Given the description of an element on the screen output the (x, y) to click on. 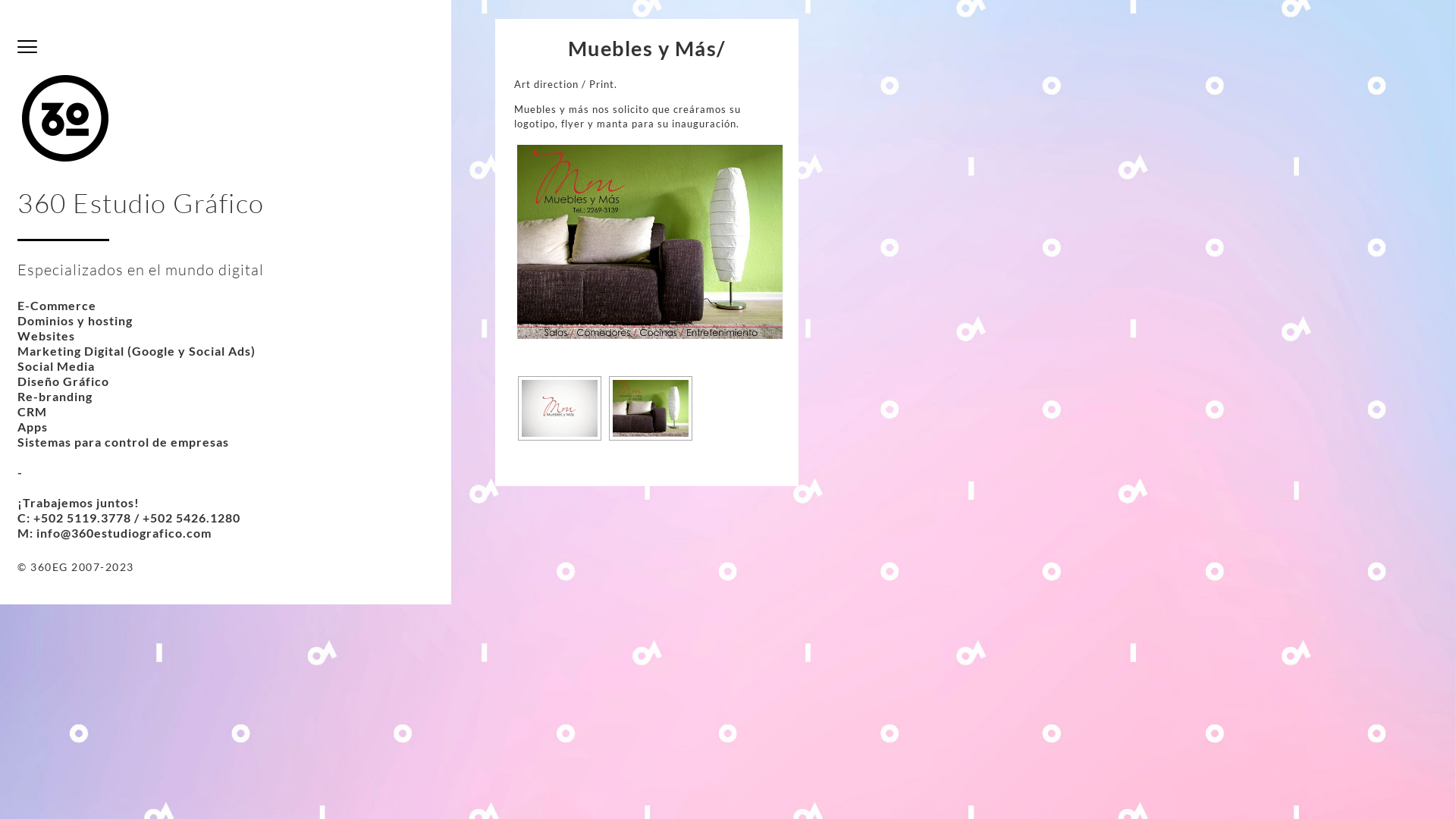
manta Element type: hover (650, 407)
logo-muebles-y-mas Element type: hover (559, 407)
manta Element type: hover (649, 241)
